Given the description of an element on the screen output the (x, y) to click on. 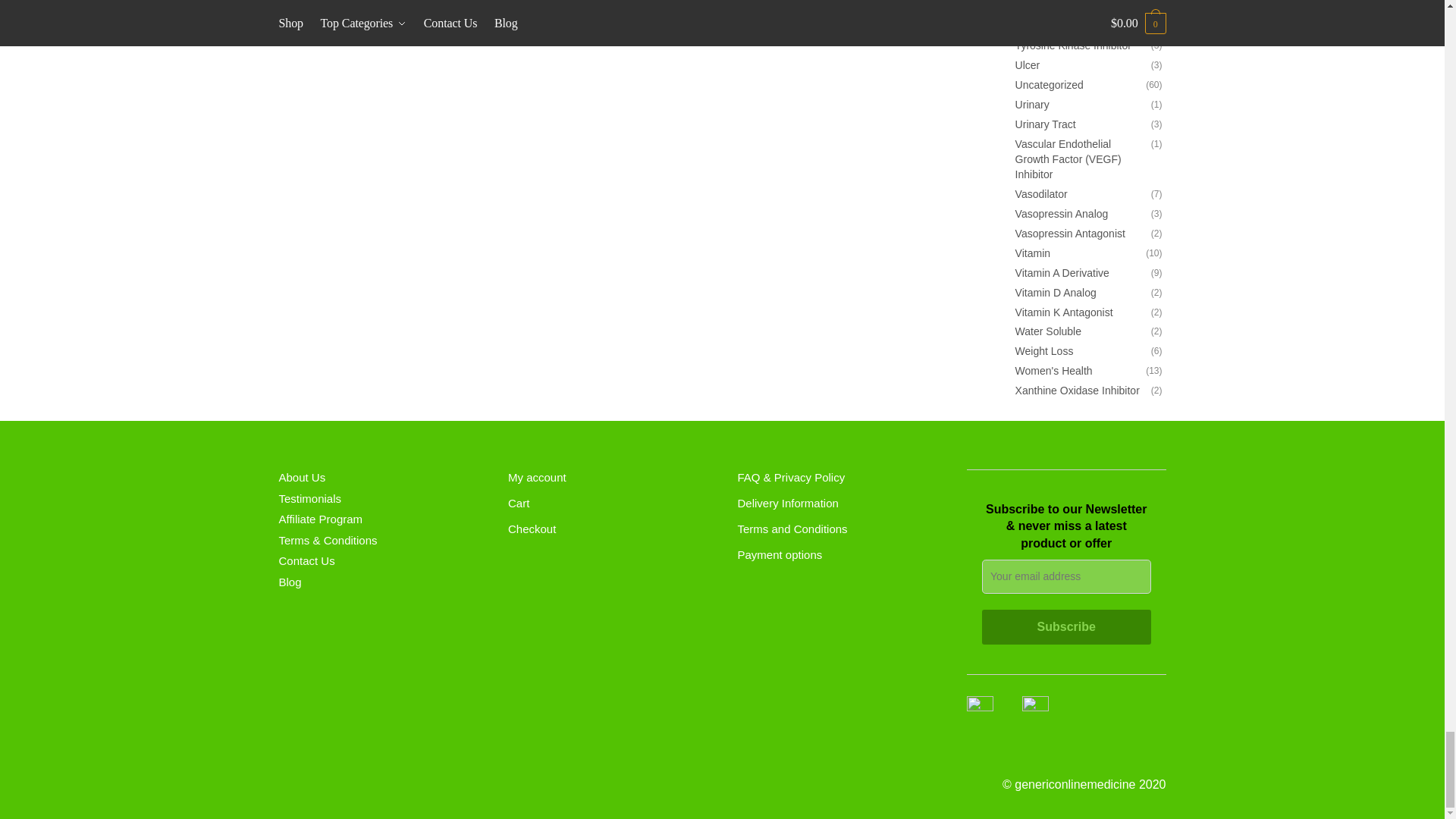
Subscribe (1066, 626)
